Given the description of an element on the screen output the (x, y) to click on. 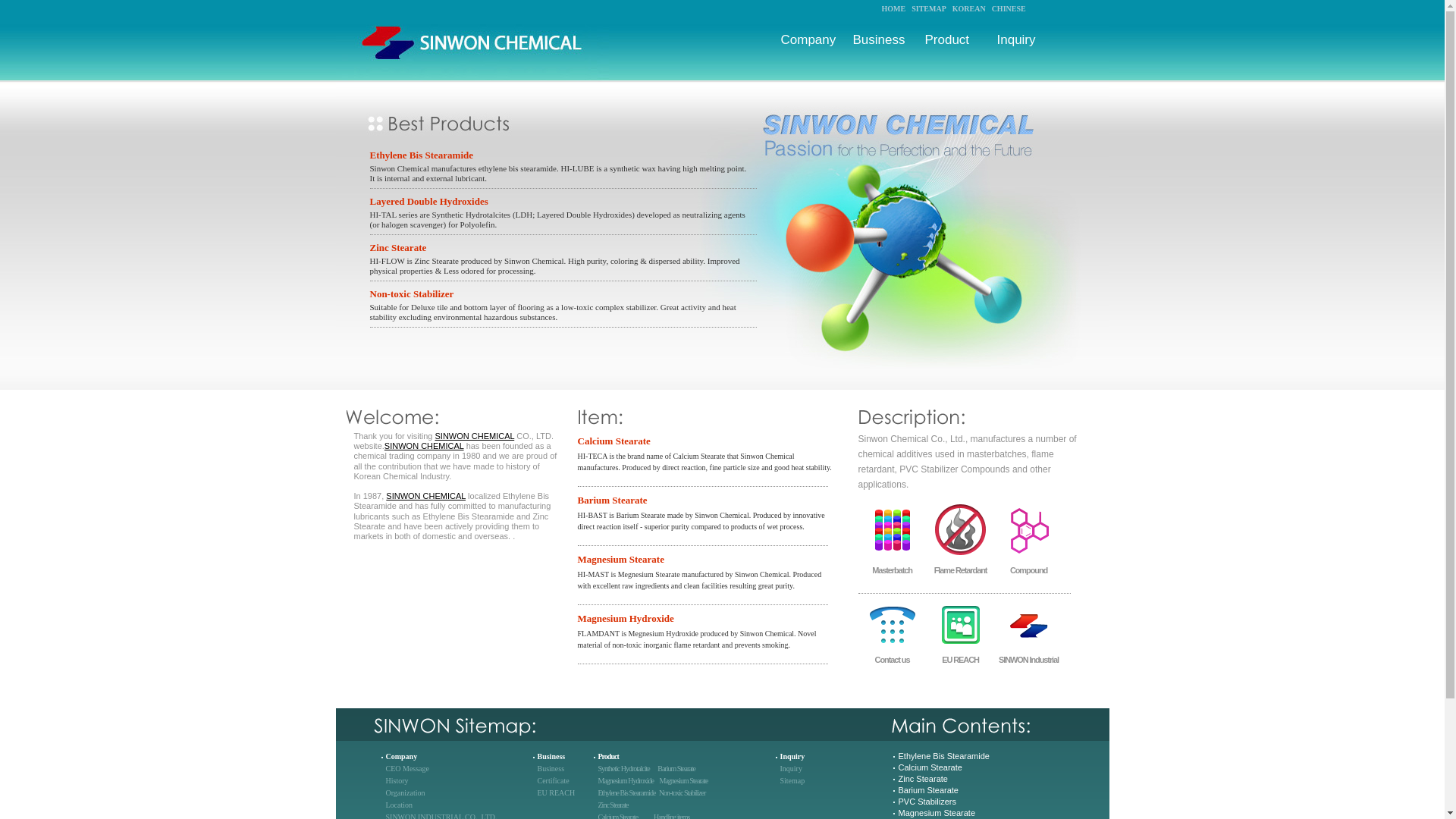
Product (946, 39)
Barium Stearate (676, 768)
Business (550, 756)
Zinc Stearate (611, 804)
Calcium Stearate (706, 440)
CEO Message (407, 768)
Magnesium Hydroxide (706, 618)
Company (807, 39)
Location (398, 804)
SINWON INDUSTRIAL CO., LTD. (440, 816)
